Given the description of an element on the screen output the (x, y) to click on. 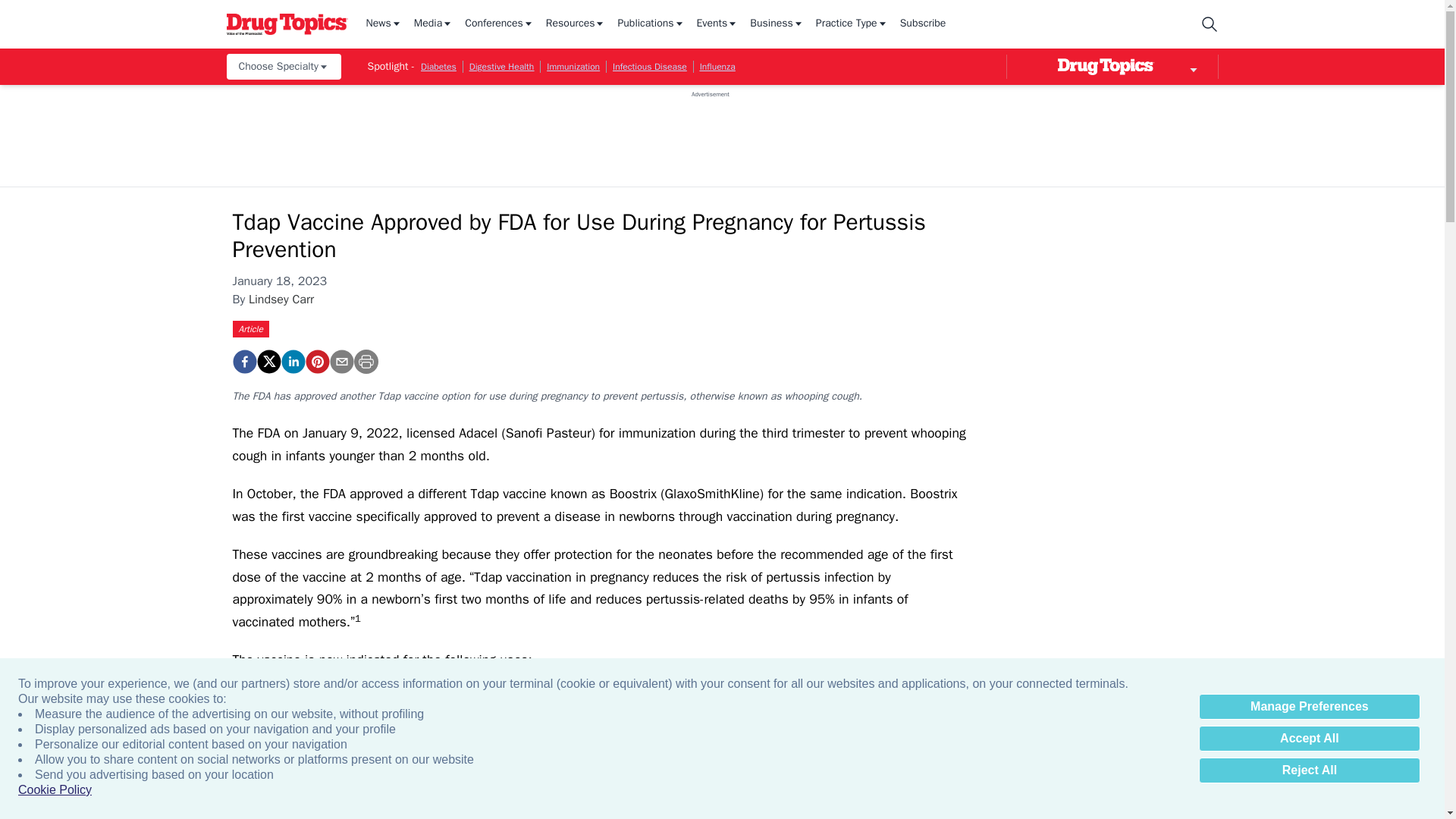
News (383, 23)
Events (717, 23)
Publications (650, 23)
Cookie Policy (54, 789)
Conferences (499, 23)
Reject All (1309, 769)
Media (432, 23)
Resources (575, 23)
3rd party ad content (709, 132)
